Given the description of an element on the screen output the (x, y) to click on. 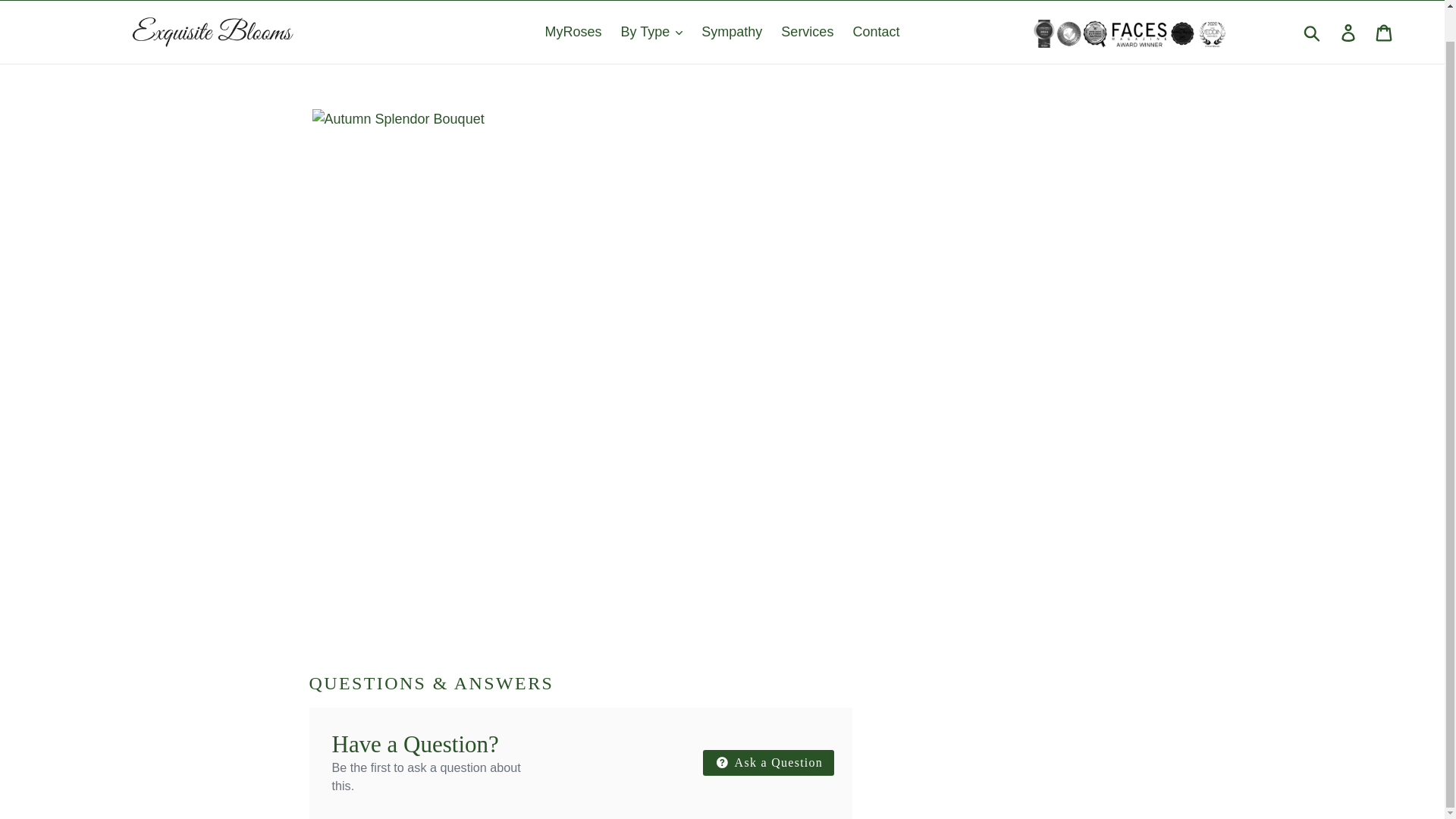
Log in (1349, 31)
Cart (1385, 31)
MyRoses (573, 32)
Submit (1313, 32)
Services (807, 32)
Ask a Question (768, 762)
Sympathy (732, 32)
Contact (875, 32)
